Given the description of an element on the screen output the (x, y) to click on. 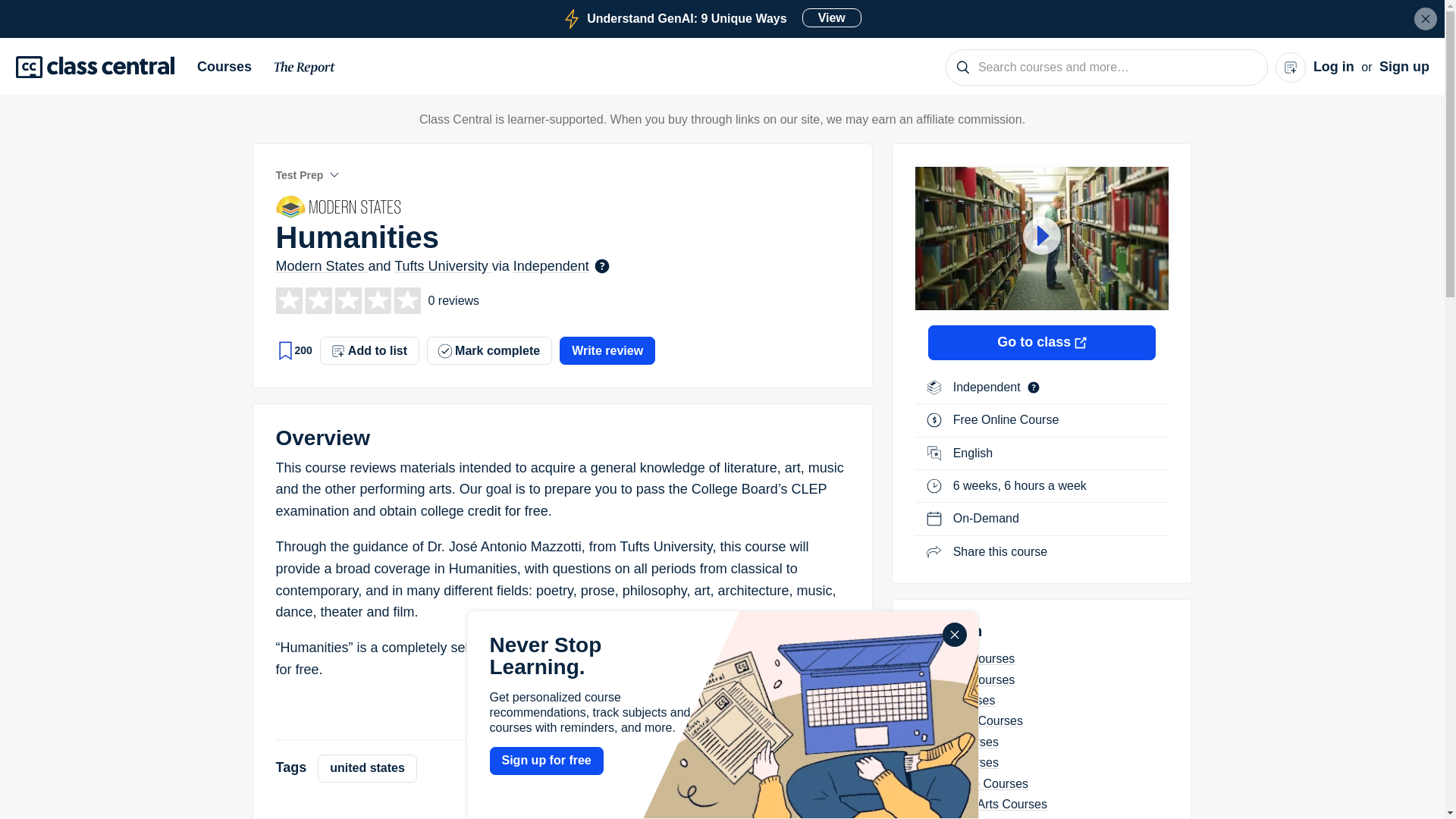
Close (710, 18)
List of Independent MOOCs (1425, 18)
Courses (988, 386)
The Report (229, 66)
